Given the description of an element on the screen output the (x, y) to click on. 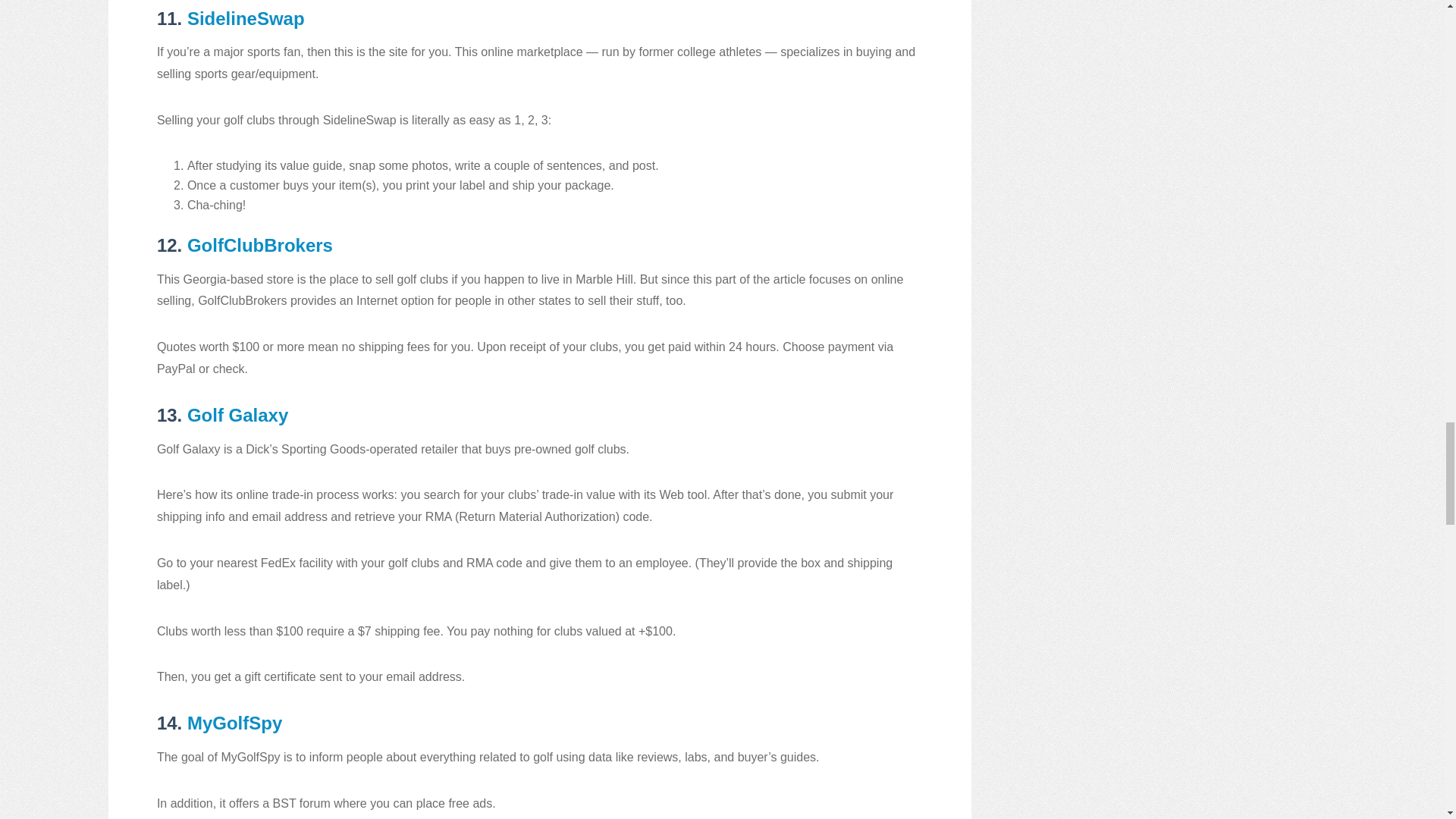
SidelineSwap (245, 18)
Golf Galaxy (237, 414)
MyGolfSpy (234, 722)
GolfClubBrokers (260, 245)
